Given the description of an element on the screen output the (x, y) to click on. 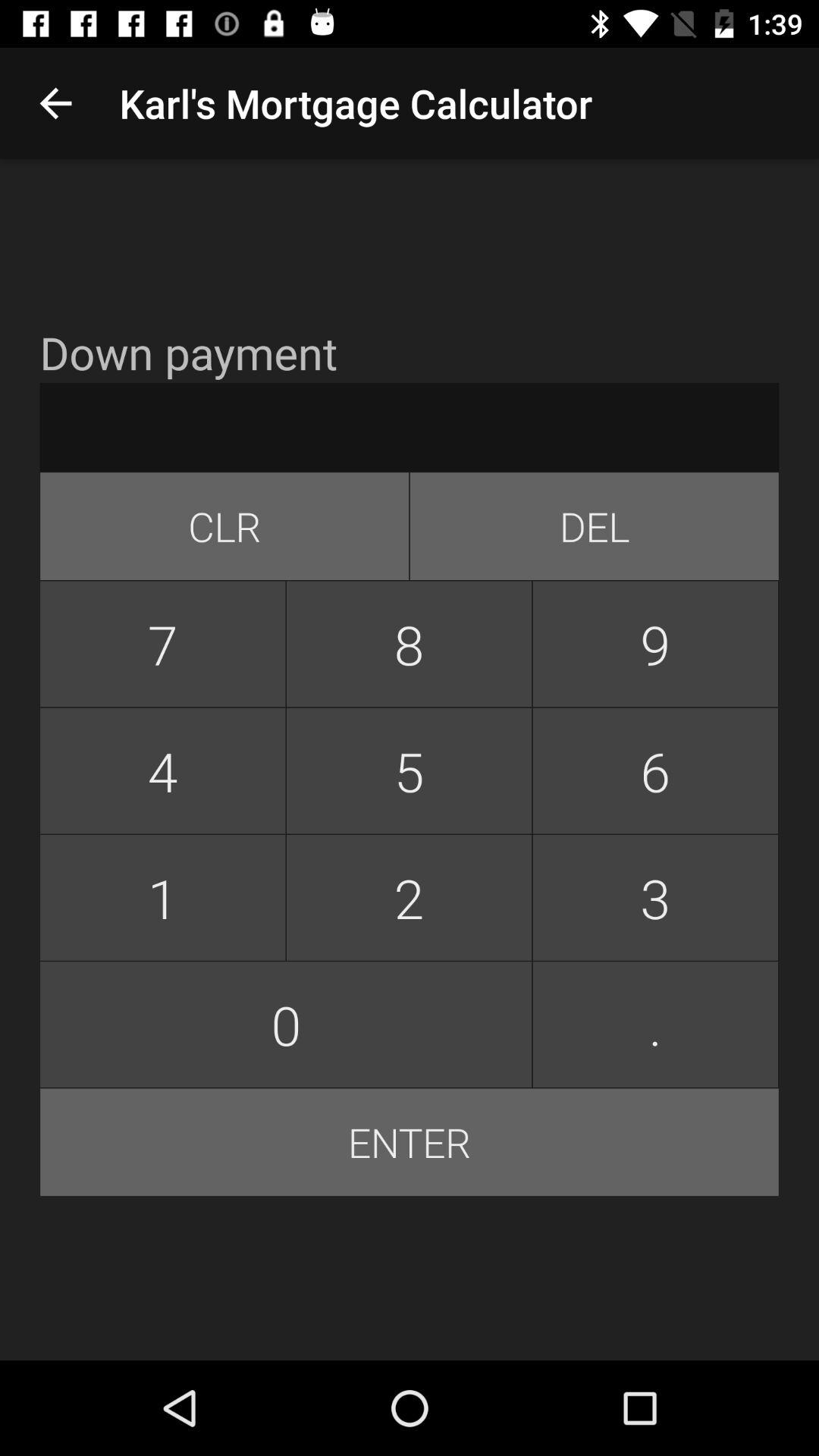
click button below the 7 button (162, 770)
